Given the description of an element on the screen output the (x, y) to click on. 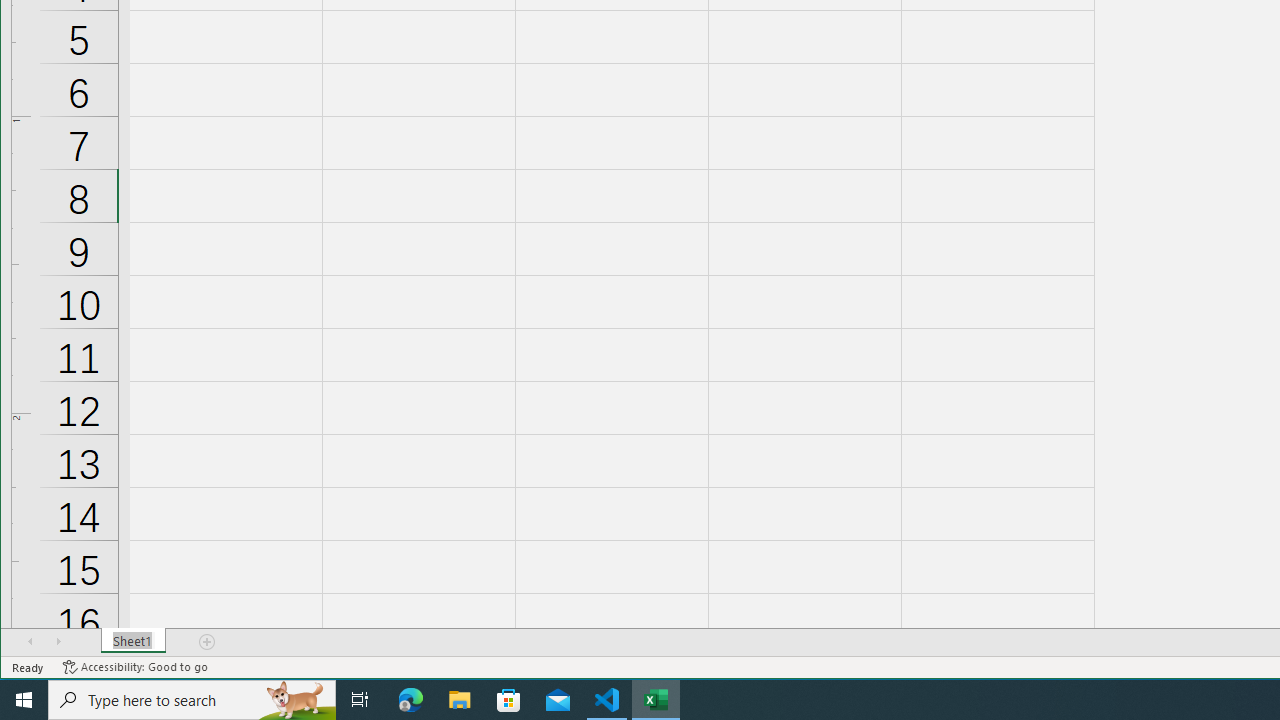
Sheet Tab (133, 641)
